Given the description of an element on the screen output the (x, y) to click on. 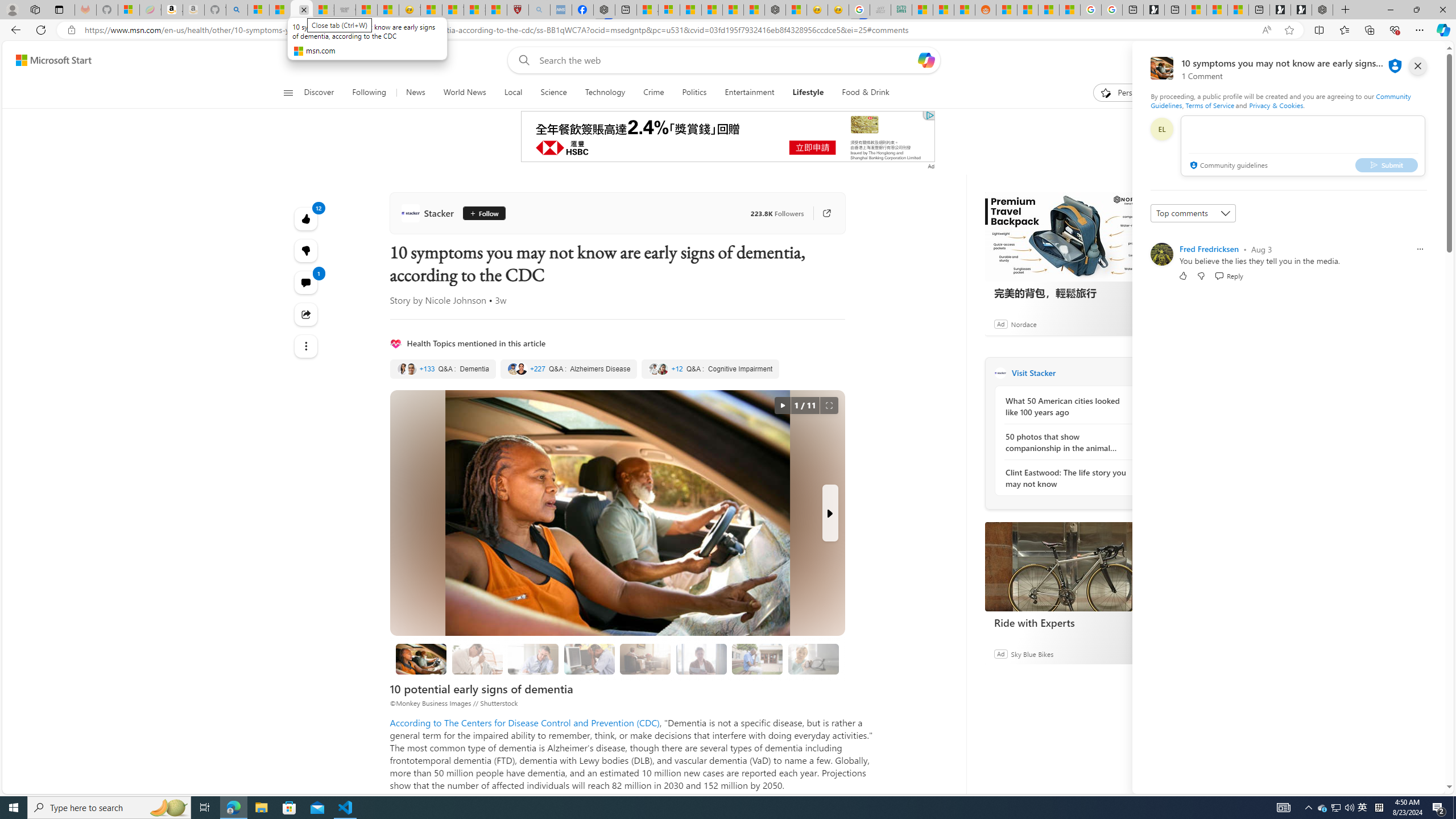
Web search (520, 60)
AutomationID: canvas (726, 136)
Confusion with time or place (644, 659)
Politics (694, 92)
Confusion with time or place (645, 658)
Full screen (828, 405)
Challenges in planning or solving problems (533, 658)
To get missing image descriptions, open the context menu. (1105, 92)
Ad Choice (1142, 653)
Following (368, 92)
Navy Quest (879, 9)
